Given the description of an element on the screen output the (x, y) to click on. 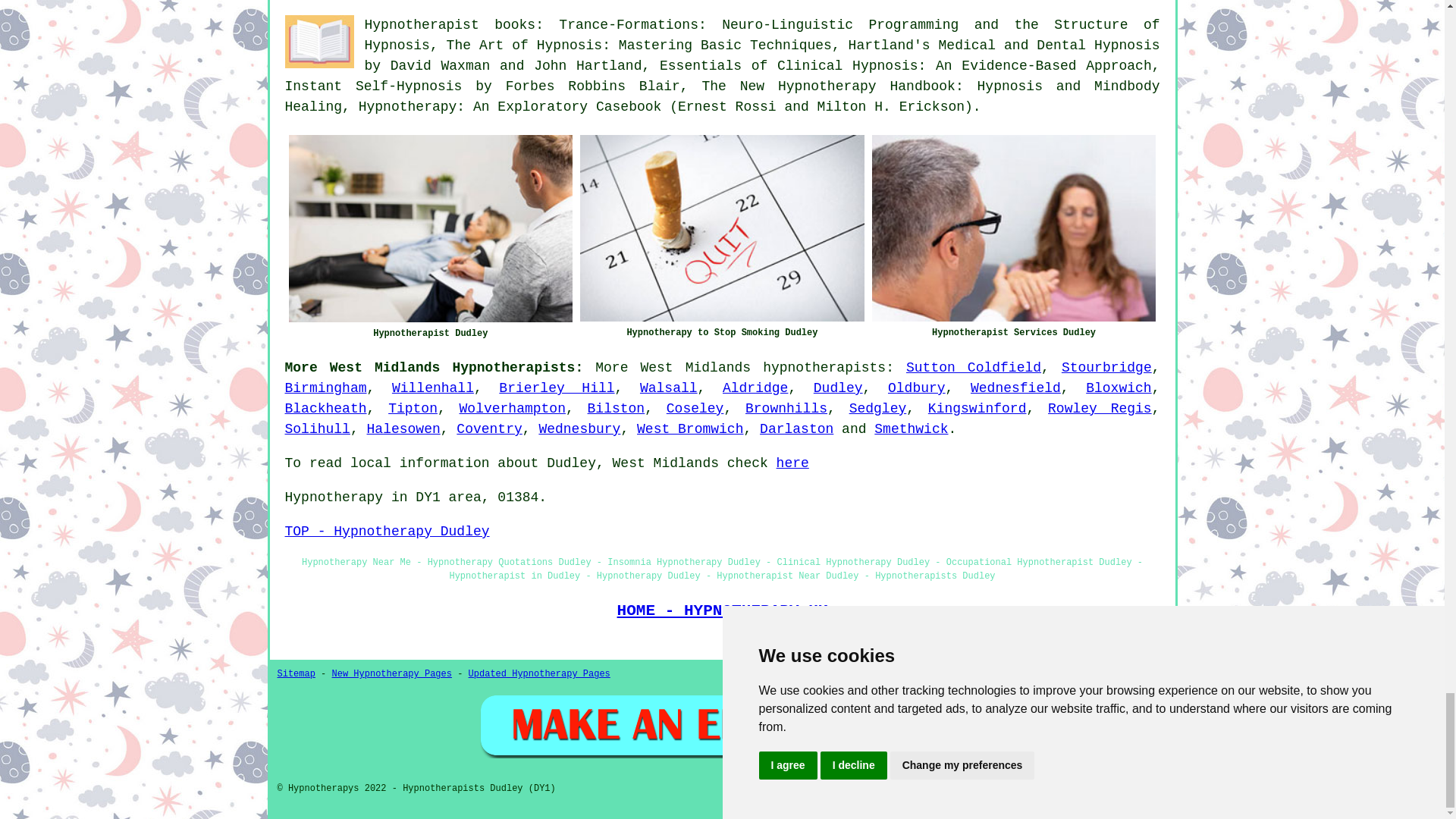
Hypnotherapy Books (319, 41)
Hypnotherapy to Stop Smoking Dudley West Midlands (721, 228)
Hypnotherapy Dudley (430, 228)
